Given the description of an element on the screen output the (x, y) to click on. 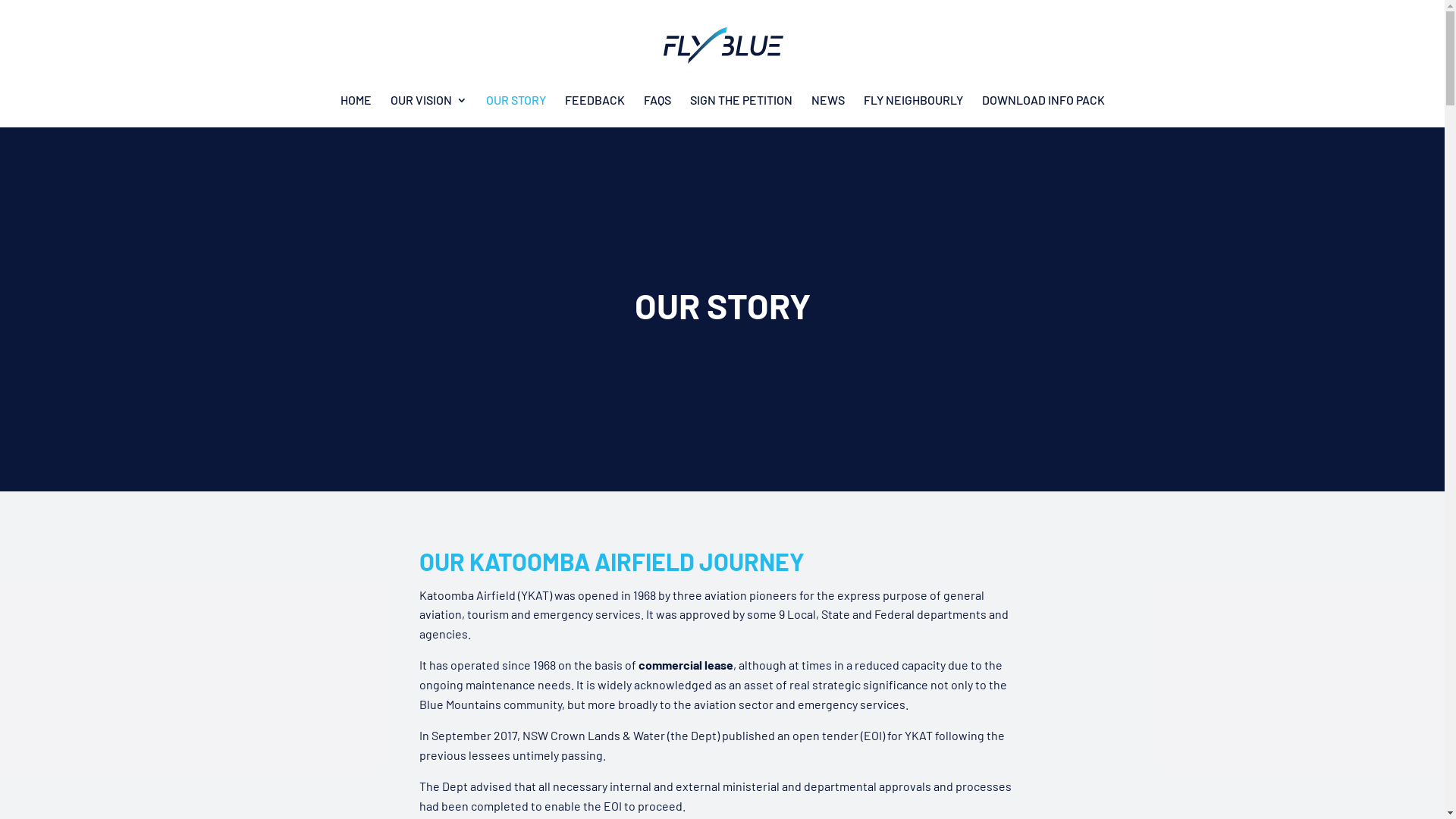
OUR STORY Element type: text (515, 108)
FLY NEIGHBOURLY Element type: text (912, 108)
NEWS Element type: text (827, 108)
FAQS Element type: text (656, 108)
SIGN THE PETITION Element type: text (741, 108)
DOWNLOAD INFO PACK Element type: text (1042, 108)
OUR VISION Element type: text (427, 108)
FEEDBACK Element type: text (594, 108)
HOME Element type: text (354, 108)
